Given the description of an element on the screen output the (x, y) to click on. 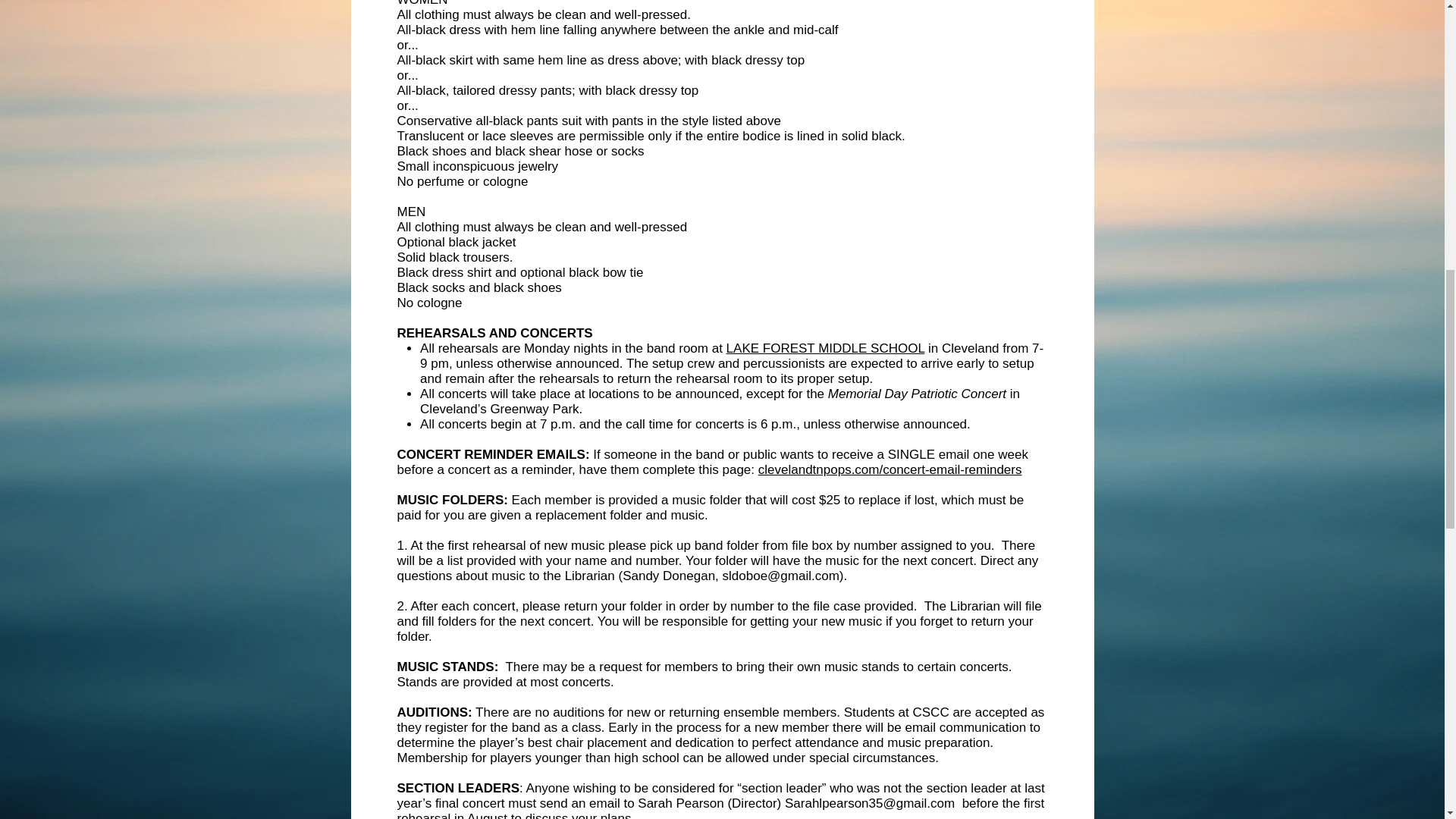
LAKE FOREST MIDDLE SCHOOL (825, 348)
